Given the description of an element on the screen output the (x, y) to click on. 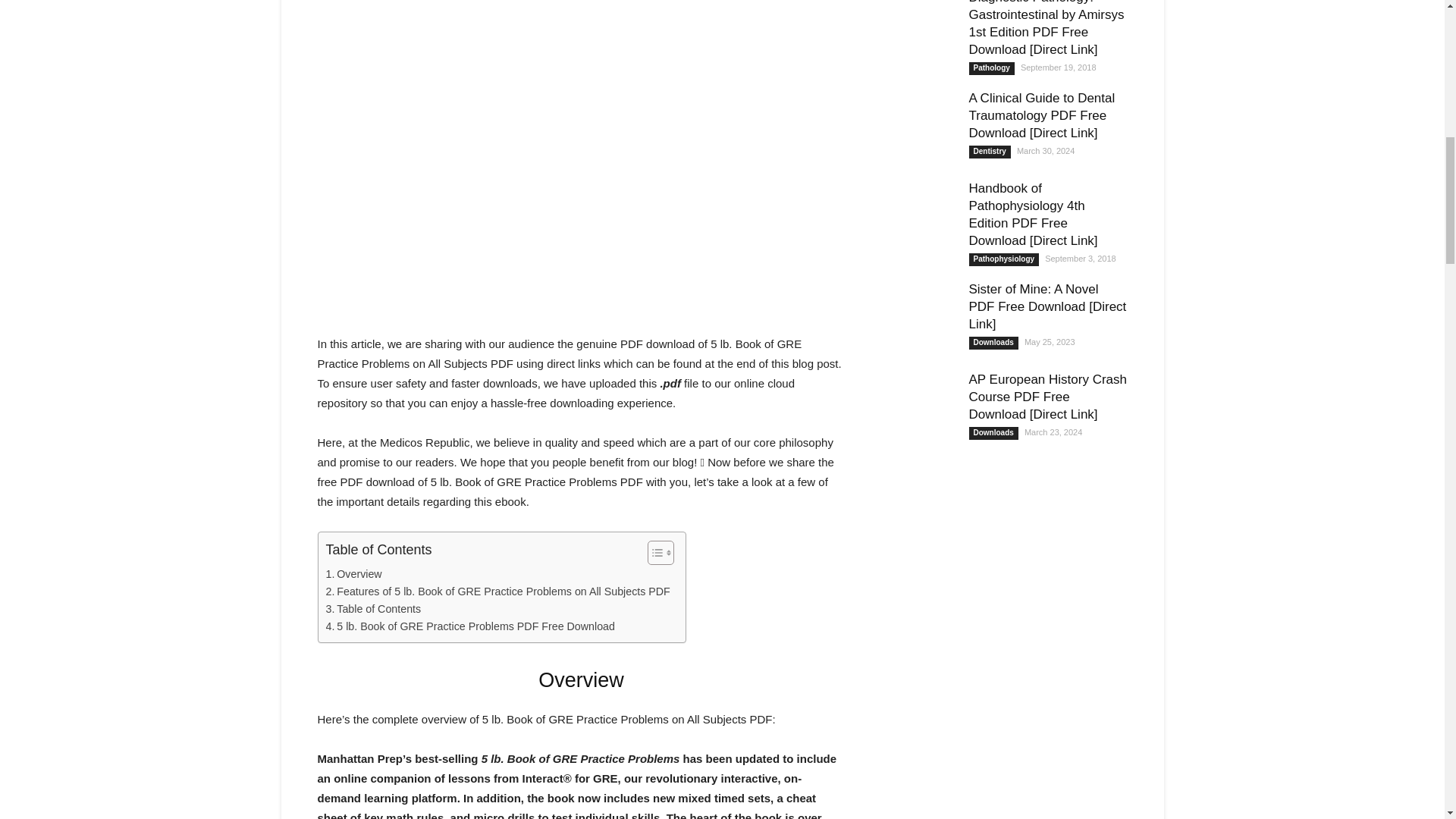
5 lb. Book of GRE Practice Problems PDF Free Download (470, 625)
Table of Contents (374, 609)
Overview (353, 574)
